Given the description of an element on the screen output the (x, y) to click on. 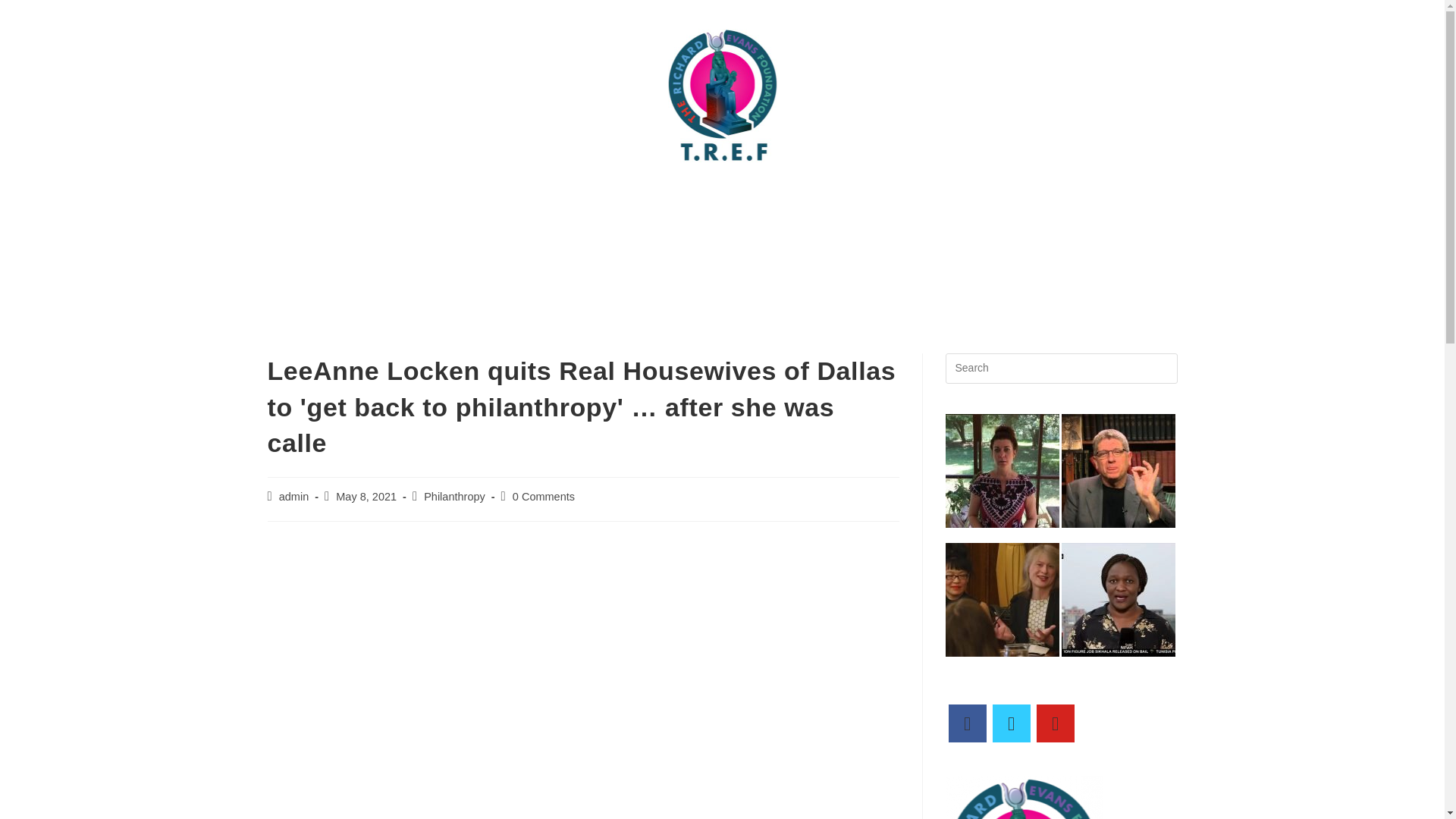
Articles (627, 200)
Philanthropy (453, 496)
Breast Cancer Research Foundation (782, 200)
0 Comments (543, 496)
Sex Trafficking (920, 235)
Homelessness (807, 235)
admin (293, 496)
Caring (1106, 200)
Giving Food Hungry (678, 235)
Single Mothers (1030, 235)
CONTACT US OR DONATE TODAY: (476, 200)
The Bill and Melinda Gates (988, 200)
Posts by admin (293, 496)
Home (334, 200)
Christian charities (543, 235)
